Given the description of an element on the screen output the (x, y) to click on. 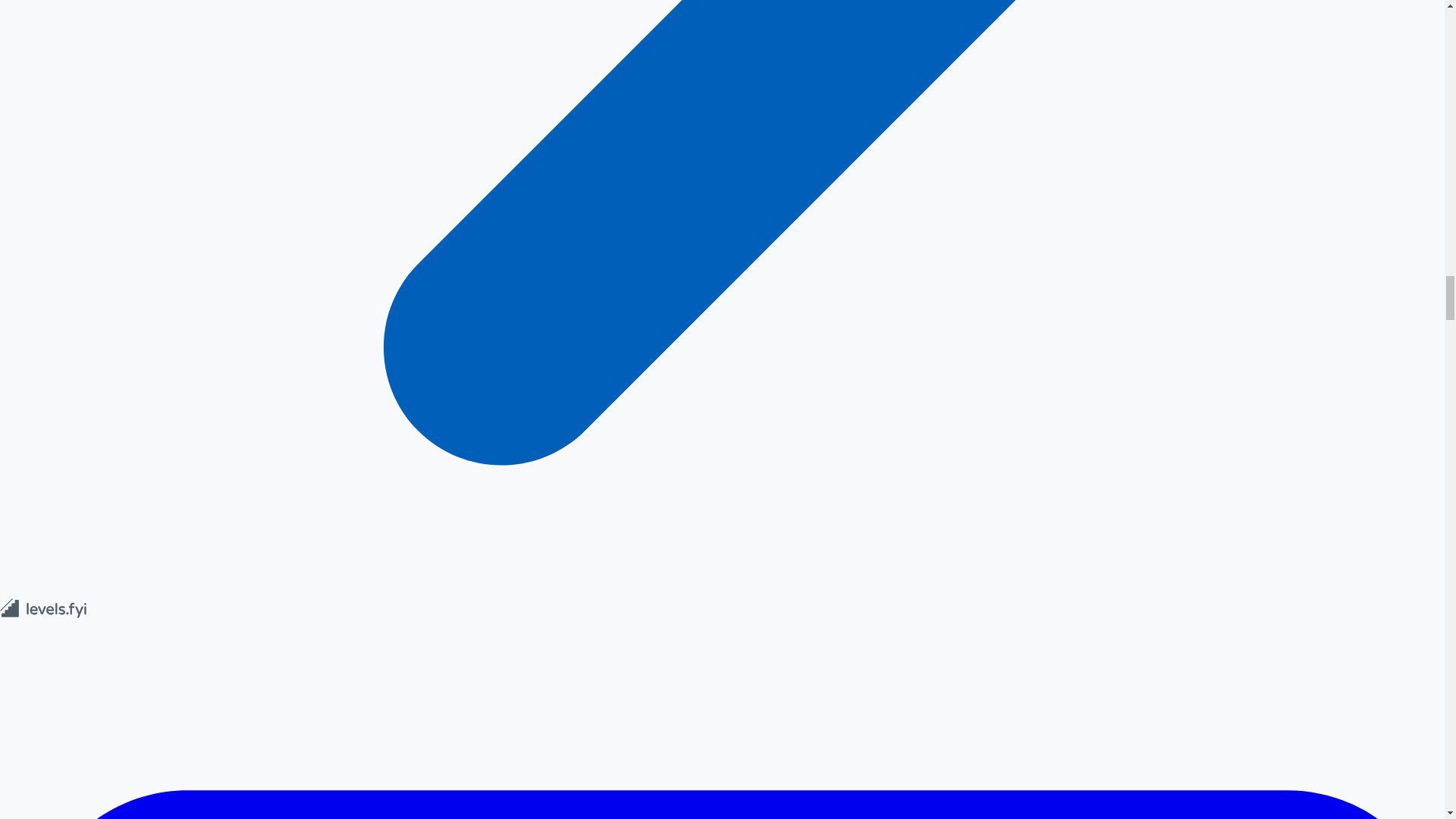
Levels FYI Logo (43, 614)
Levels FYI Logo (43, 608)
